Given the description of an element on the screen output the (x, y) to click on. 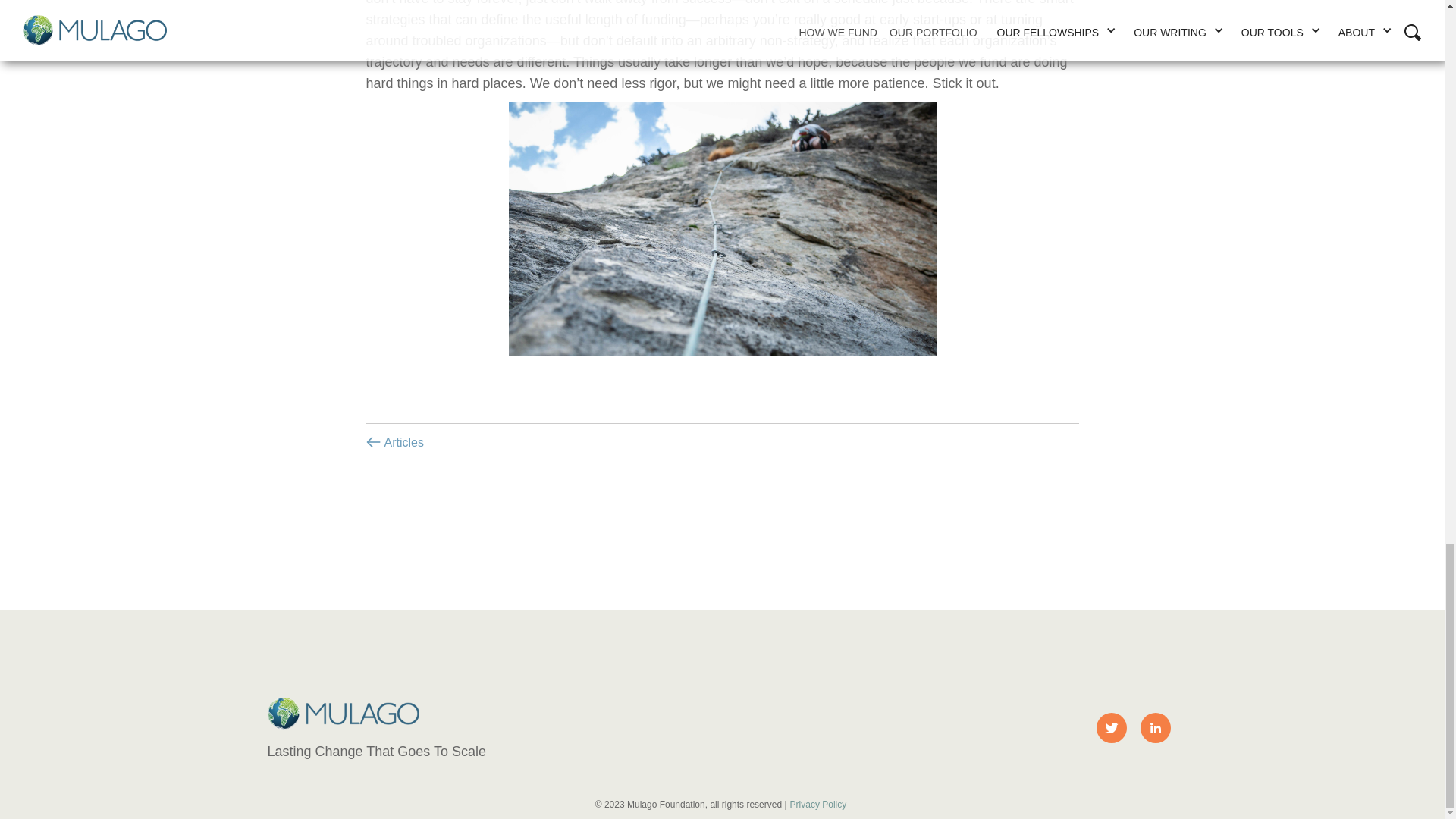
Privacy Policy (820, 803)
Articles (399, 442)
